Given the description of an element on the screen output the (x, y) to click on. 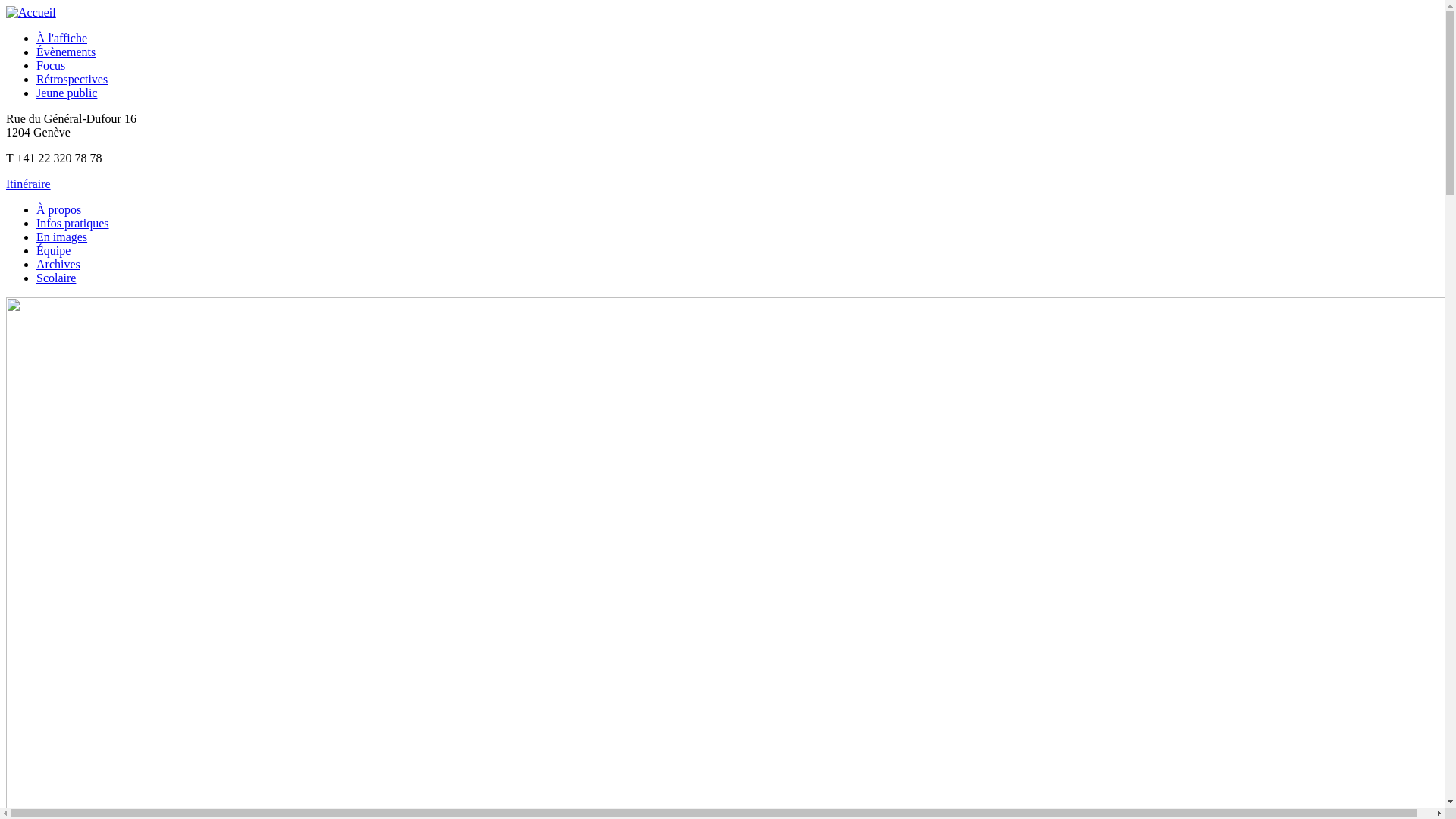
Archives Element type: text (58, 263)
Aller au contenu principal Element type: text (69, 6)
Jeune public Element type: text (66, 92)
Focus Element type: text (50, 65)
Infos pratiques Element type: text (72, 222)
Accueil Element type: hover (31, 12)
Scolaire Element type: text (55, 277)
En images Element type: text (61, 236)
